Given the description of an element on the screen output the (x, y) to click on. 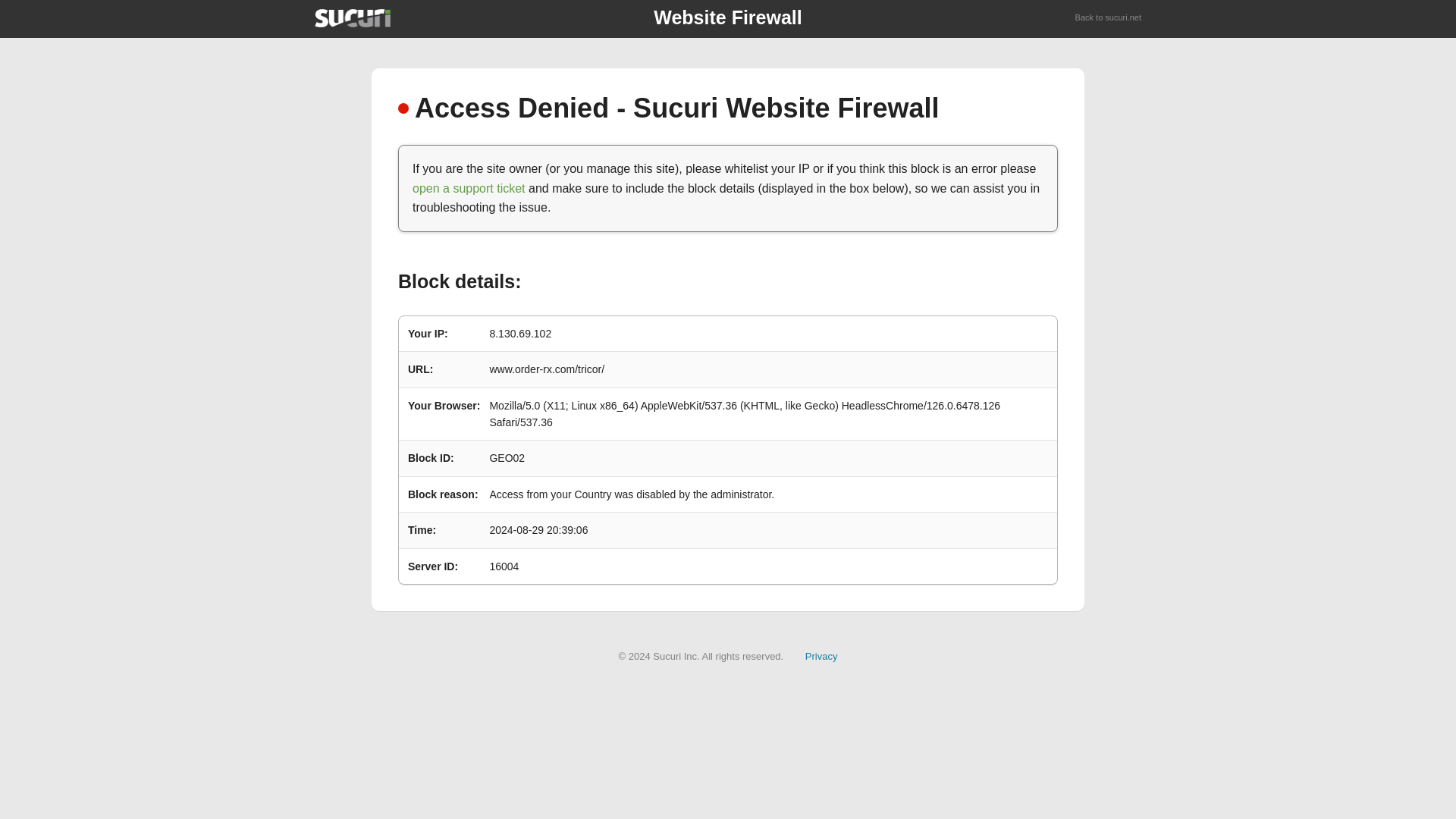
open a support ticket (468, 187)
Back to sucuri.net (1108, 18)
Privacy (821, 655)
